Given the description of an element on the screen output the (x, y) to click on. 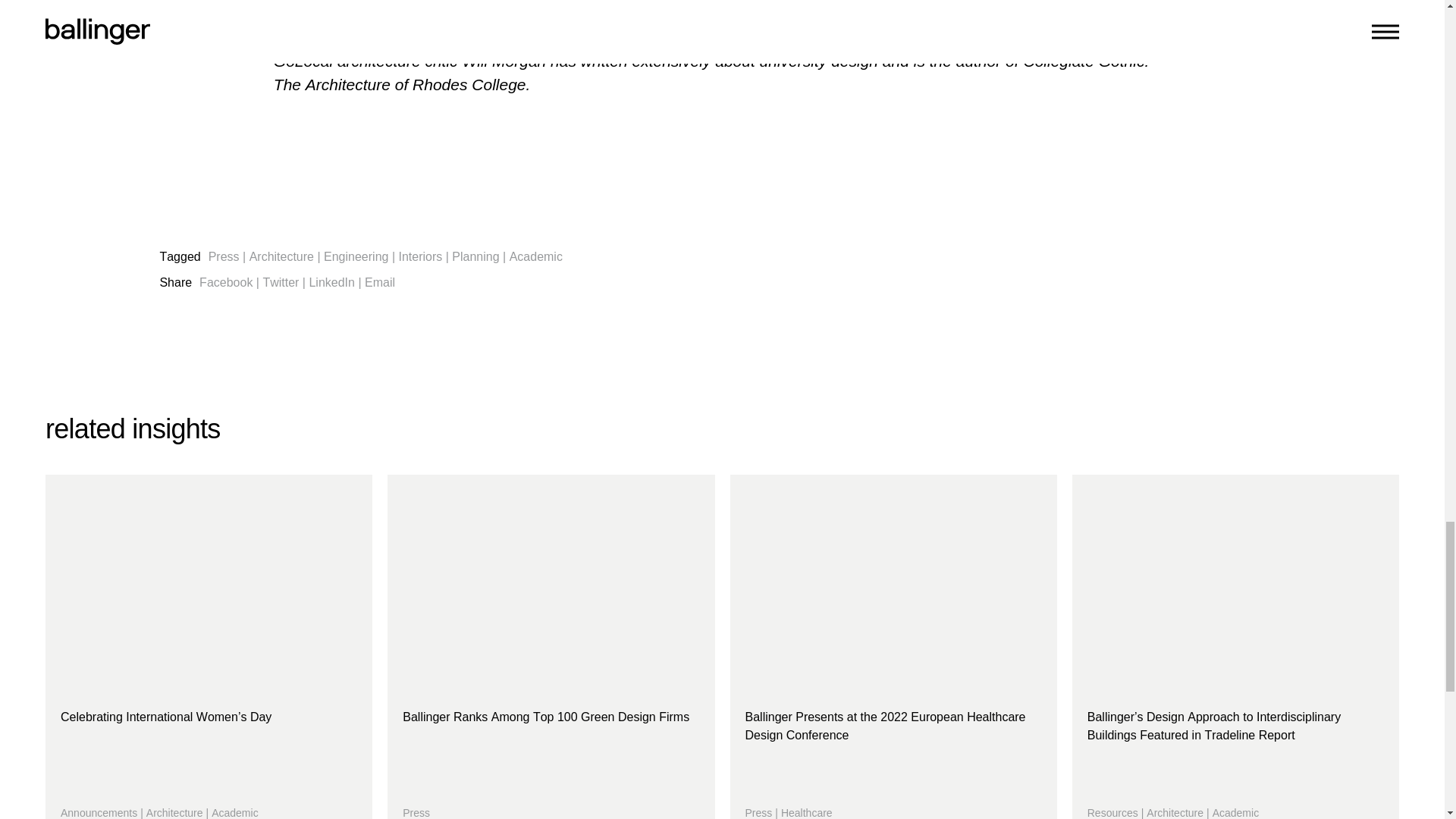
Twitter (280, 282)
Architecture (281, 256)
Press (224, 256)
Email (379, 282)
Academic (535, 256)
Interiors (420, 256)
LinkedIn (550, 647)
Facebook (331, 282)
Engineering (225, 282)
Planning (355, 256)
